Given the description of an element on the screen output the (x, y) to click on. 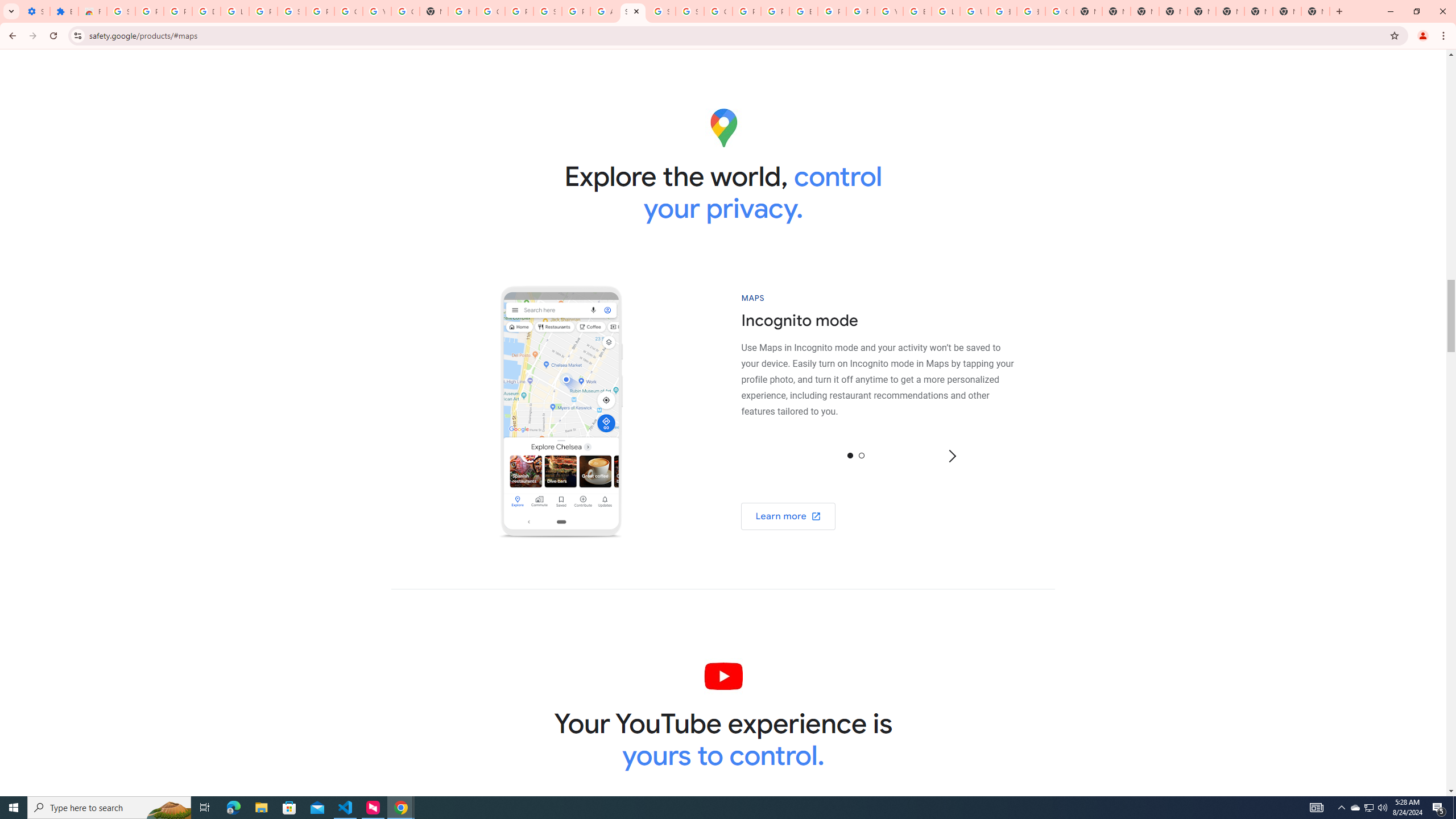
Google Images (1058, 11)
1 (861, 454)
Browse Chrome as a guest - Computer - Google Chrome Help (917, 11)
New Tab (1173, 11)
https://scholar.google.com/ (461, 11)
